Given the description of an element on the screen output the (x, y) to click on. 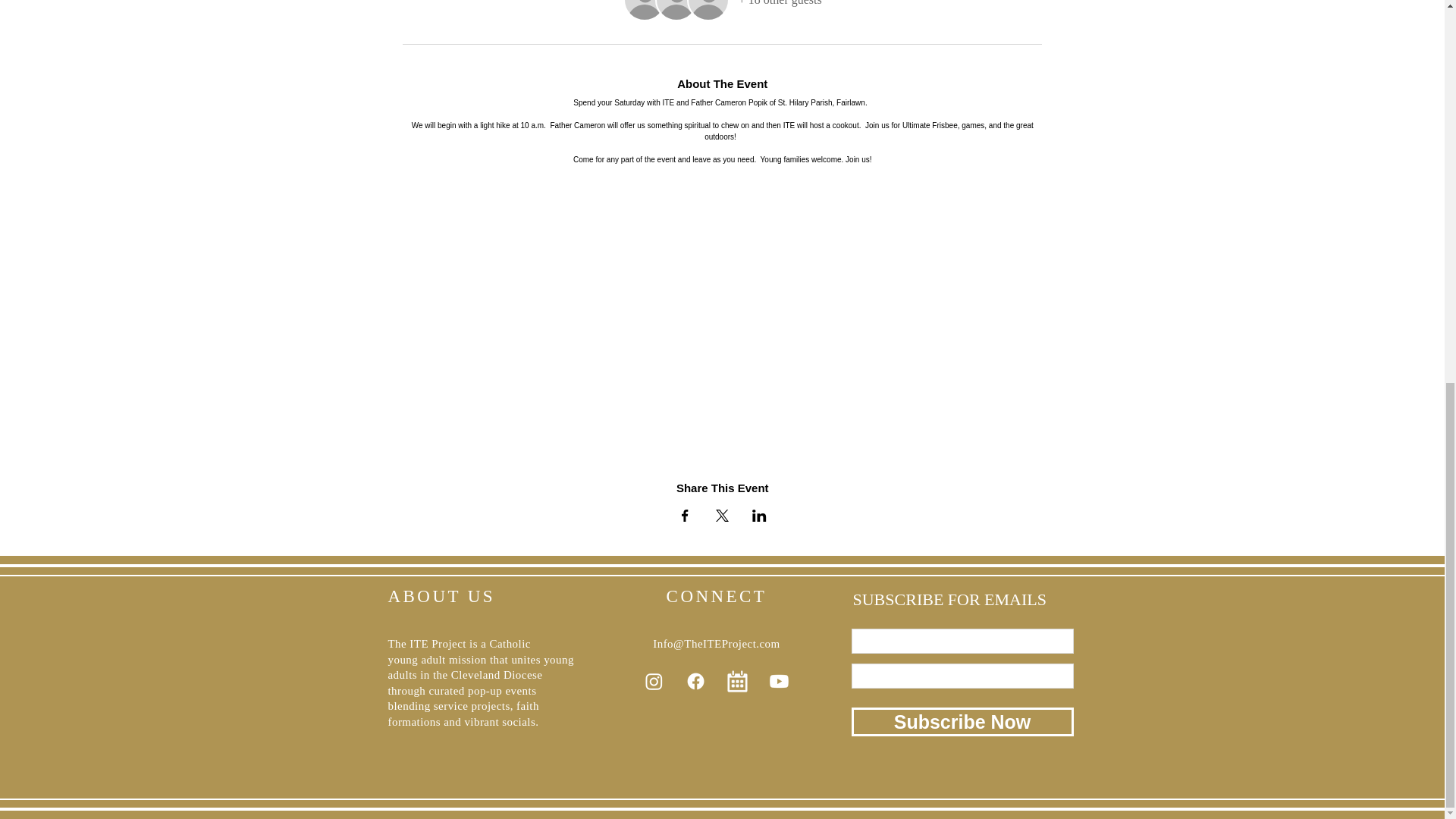
Subscribe Now (961, 721)
